Given the description of an element on the screen output the (x, y) to click on. 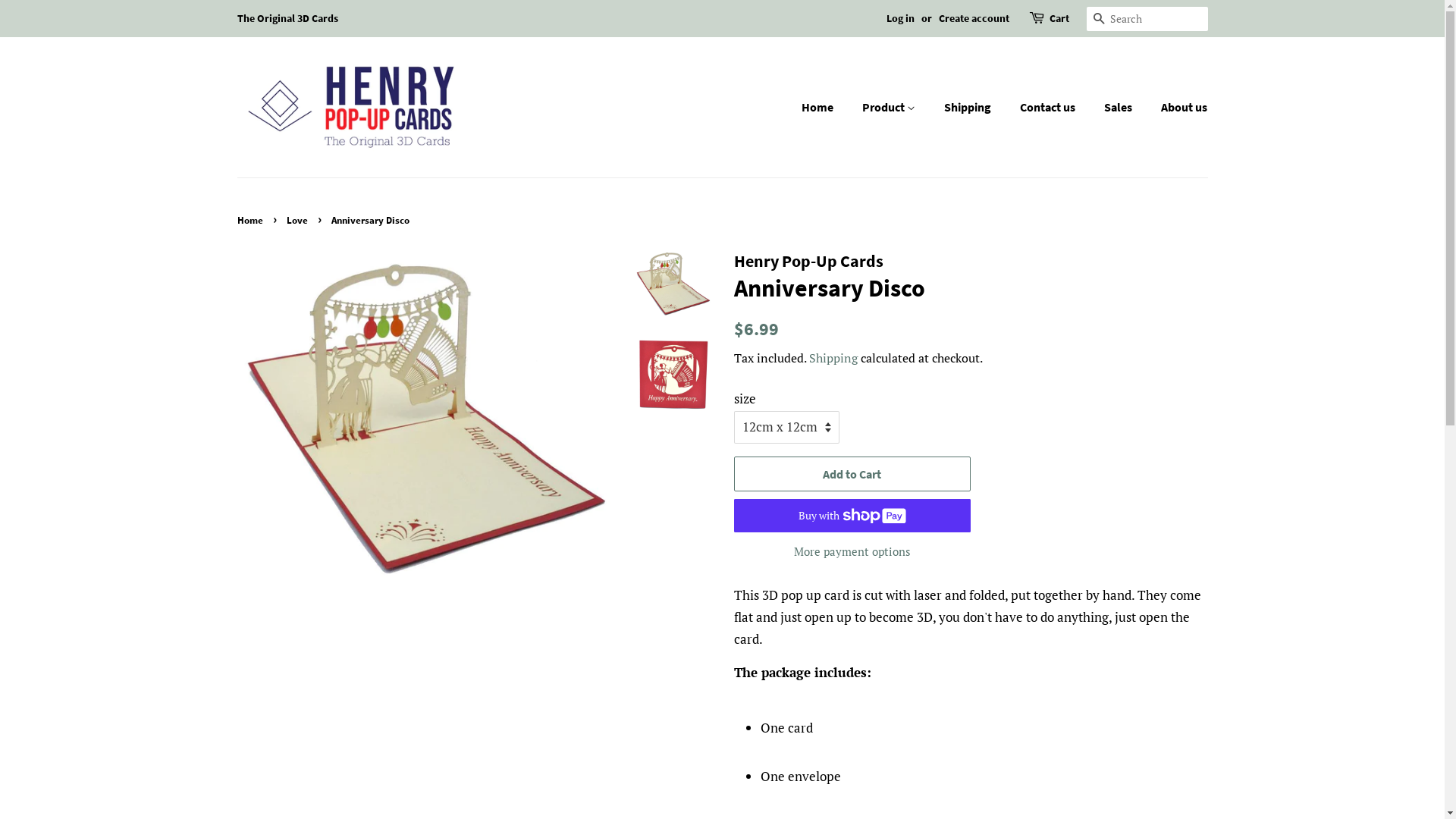
Create account Element type: text (973, 18)
About us Element type: text (1178, 106)
Product Element type: text (890, 106)
Add to Cart Element type: text (852, 474)
Shipping Element type: text (969, 106)
Love Element type: text (298, 219)
More payment options Element type: text (852, 550)
Sales Element type: text (1119, 106)
Cart Element type: text (1059, 18)
Contact us Element type: text (1049, 106)
Home Element type: text (824, 106)
Home Element type: text (251, 219)
Search Element type: text (1097, 18)
Log in Element type: text (899, 18)
Shipping Element type: text (832, 357)
